Given the description of an element on the screen output the (x, y) to click on. 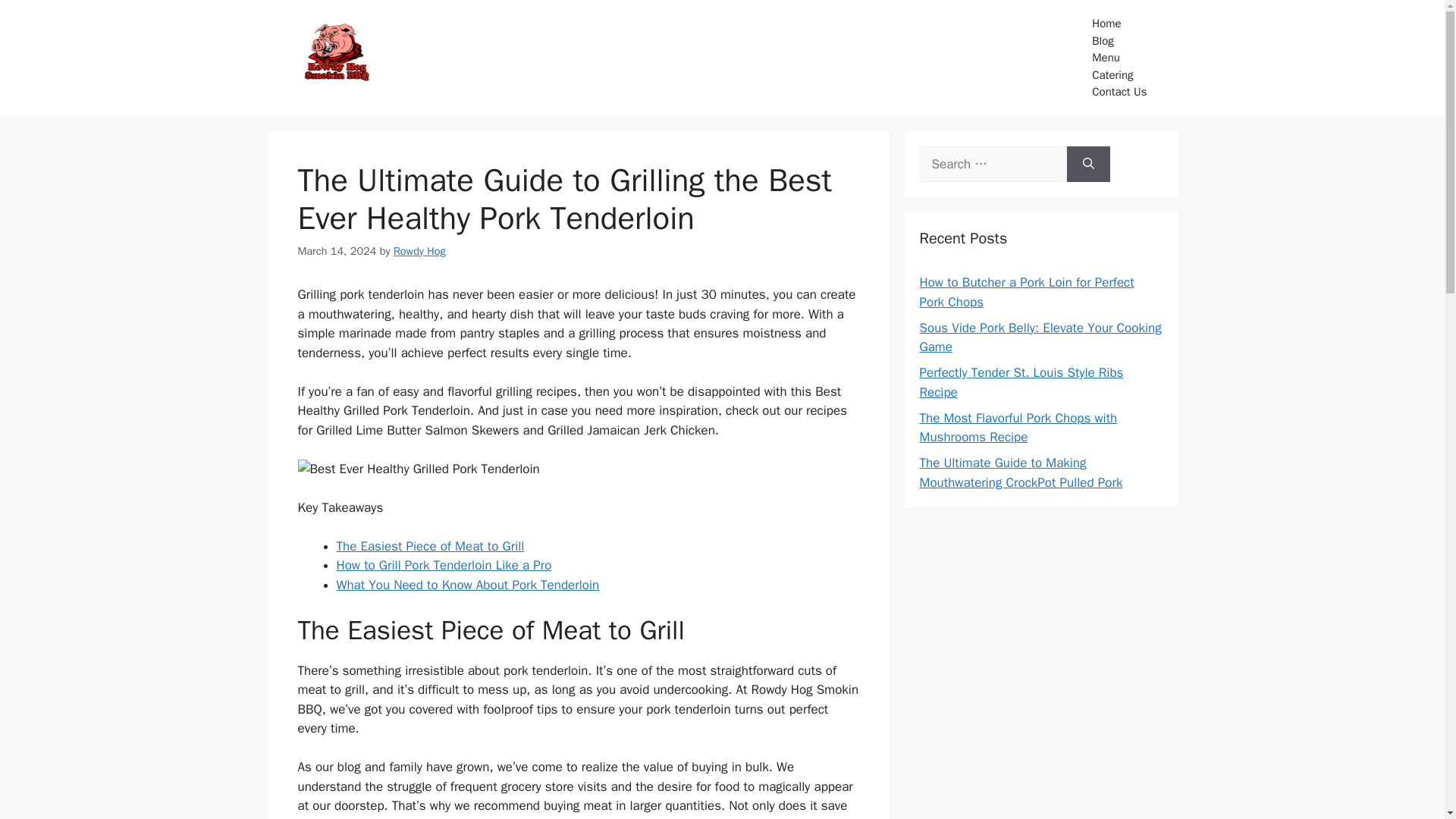
Search for: (991, 163)
Menu (1119, 57)
The Most Flavorful Pork Chops with Mushrooms Recipe (1017, 427)
Perfectly Tender St. Louis Style Ribs Recipe (1020, 382)
Sous Vide Pork Belly: Elevate Your Cooking Game (1039, 337)
View all posts by Rowdy Hog (419, 250)
Contact Us (1119, 91)
Catering (1119, 75)
Home (1119, 23)
